Given the description of an element on the screen output the (x, y) to click on. 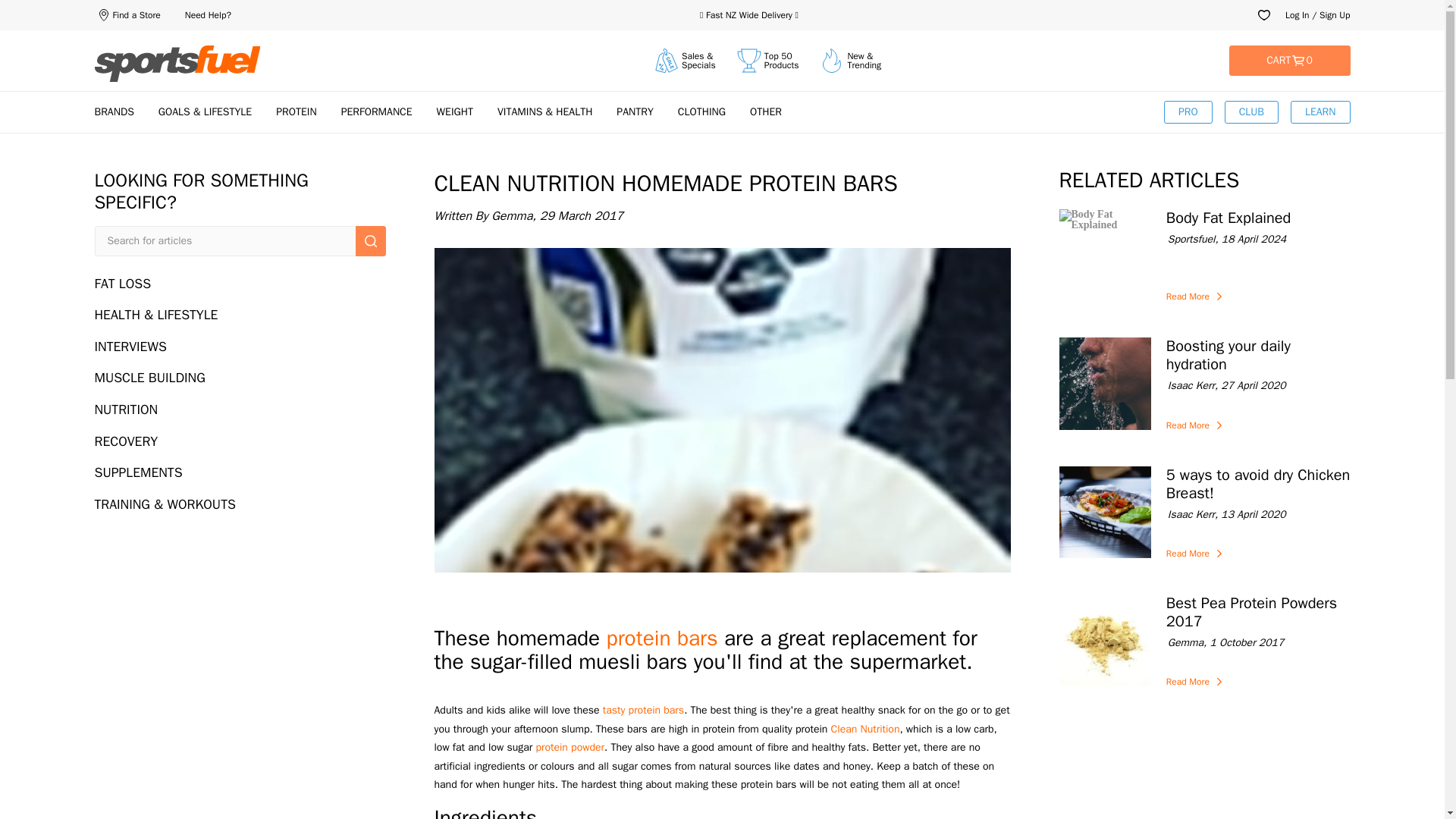
RECOVERY (239, 441)
NUTRITION (239, 409)
Gemma, 29 March 2017 (721, 216)
PROTEIN (296, 111)
PRO (1187, 111)
CLOTHING (701, 111)
CLUB (1288, 60)
Isaac Kerr, 13 April 2020 (1251, 111)
Top 50 Products (1258, 514)
MUSCLE BUILDING (767, 60)
Home (239, 377)
Gemma, 1 October 2017 (177, 63)
5 ways to avoid dry Chicken Breast! (1258, 643)
LEARN (1258, 484)
